Given the description of an element on the screen output the (x, y) to click on. 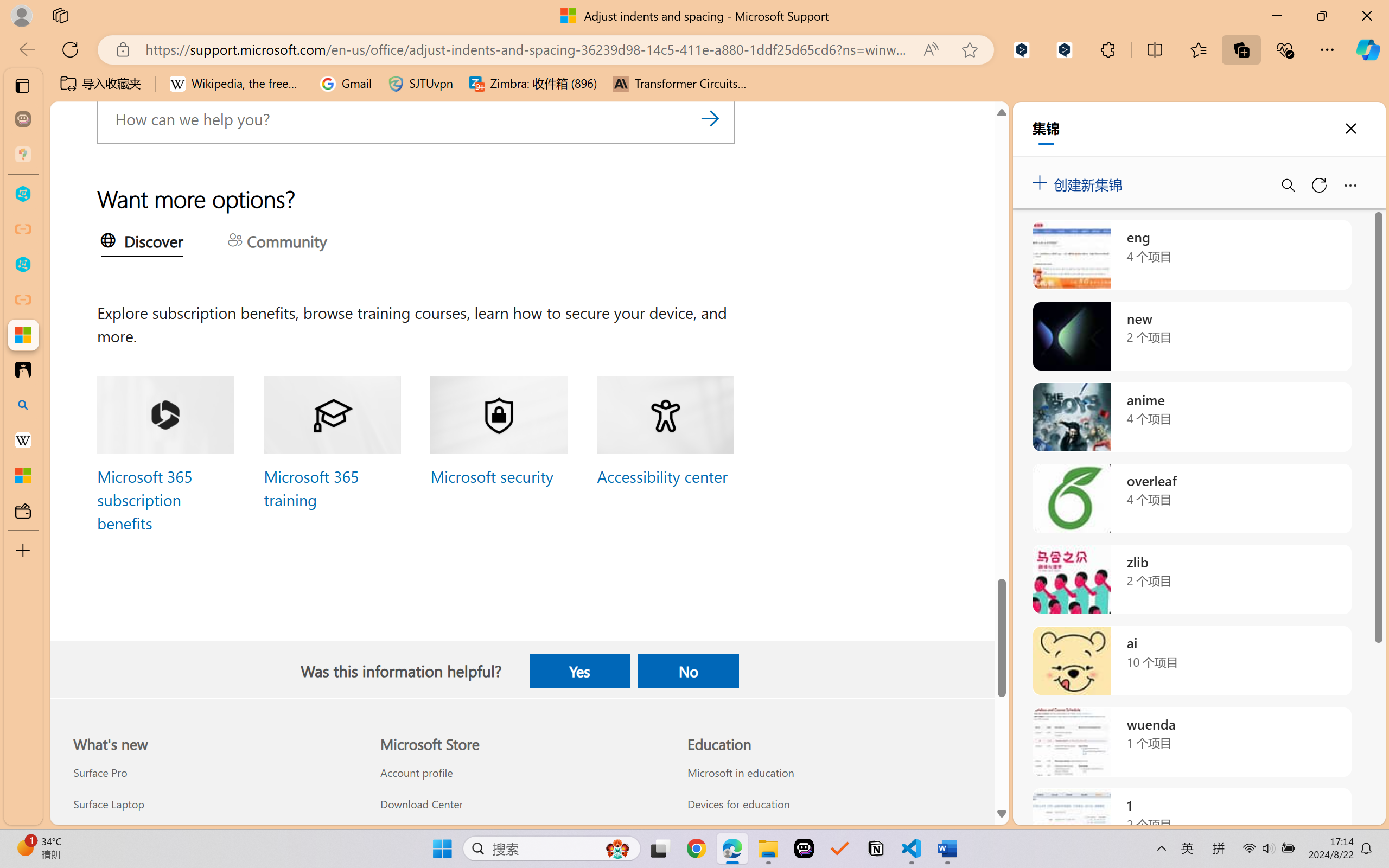
Devices for education Education (737, 803)
Wikipedia, the free encyclopedia (236, 83)
Yes (578, 670)
wangyian_webcrawler - DSW (22, 264)
Surface Pro What's new (99, 772)
